Given the description of an element on the screen output the (x, y) to click on. 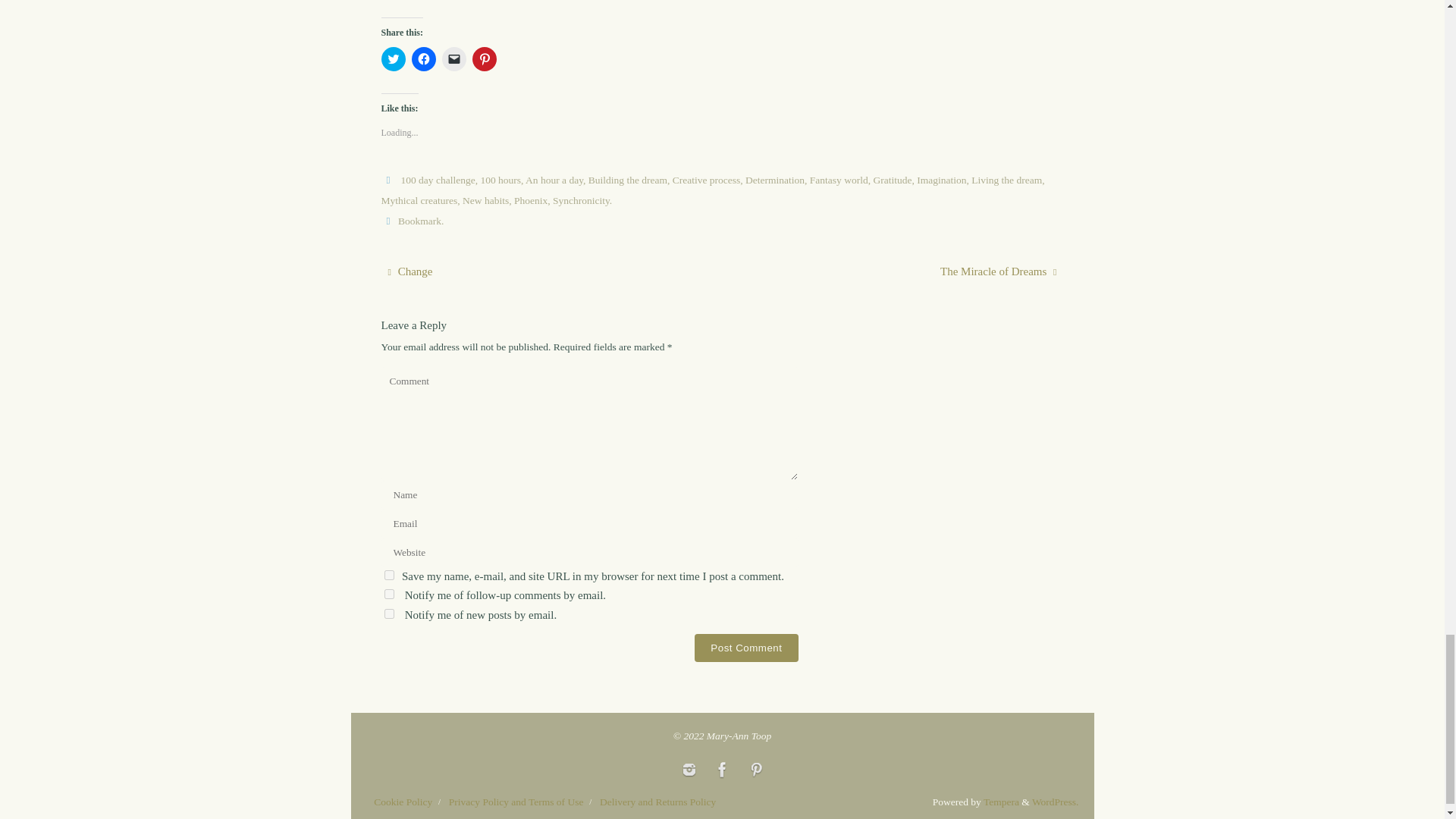
subscribe (388, 593)
Post Comment (745, 647)
yes (388, 574)
subscribe (388, 614)
